Given the description of an element on the screen output the (x, y) to click on. 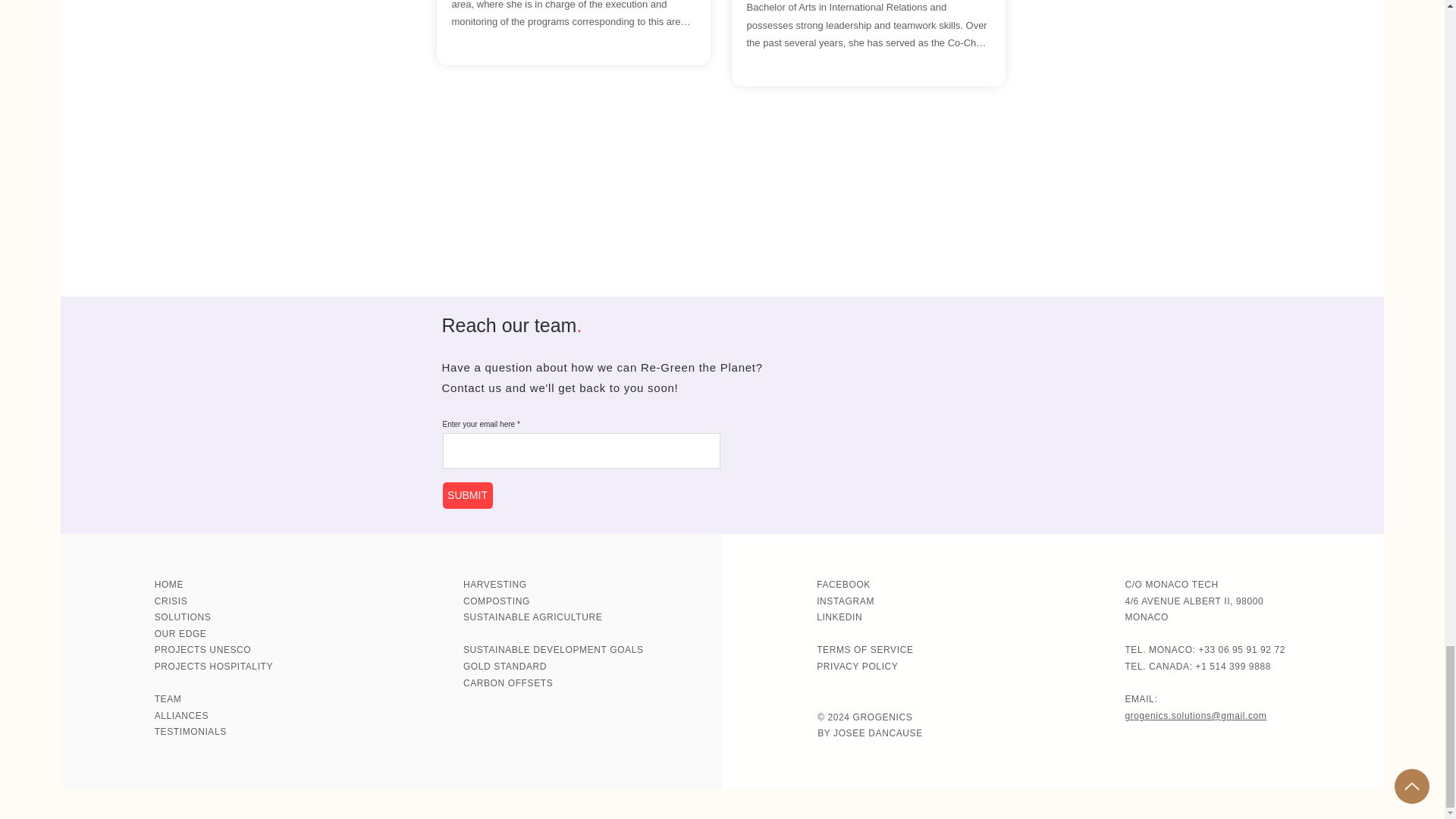
LINKEDIN (838, 616)
SUBMIT (467, 495)
CARBON OFFSETS (508, 683)
ALLIANCES (181, 715)
CRISIS (170, 601)
COMPOSTING (496, 601)
SOLUTIONS (182, 616)
TERMS OF SERVICE (864, 649)
TEAM (168, 698)
OUR EDGE (180, 633)
HOME (168, 584)
SUSTAINABLE DEVELOPMENT GOALS (553, 649)
PROJECTS UNESCO (202, 649)
INSTAGRAM (845, 601)
GOLD STANDARD (505, 665)
